Given the description of an element on the screen output the (x, y) to click on. 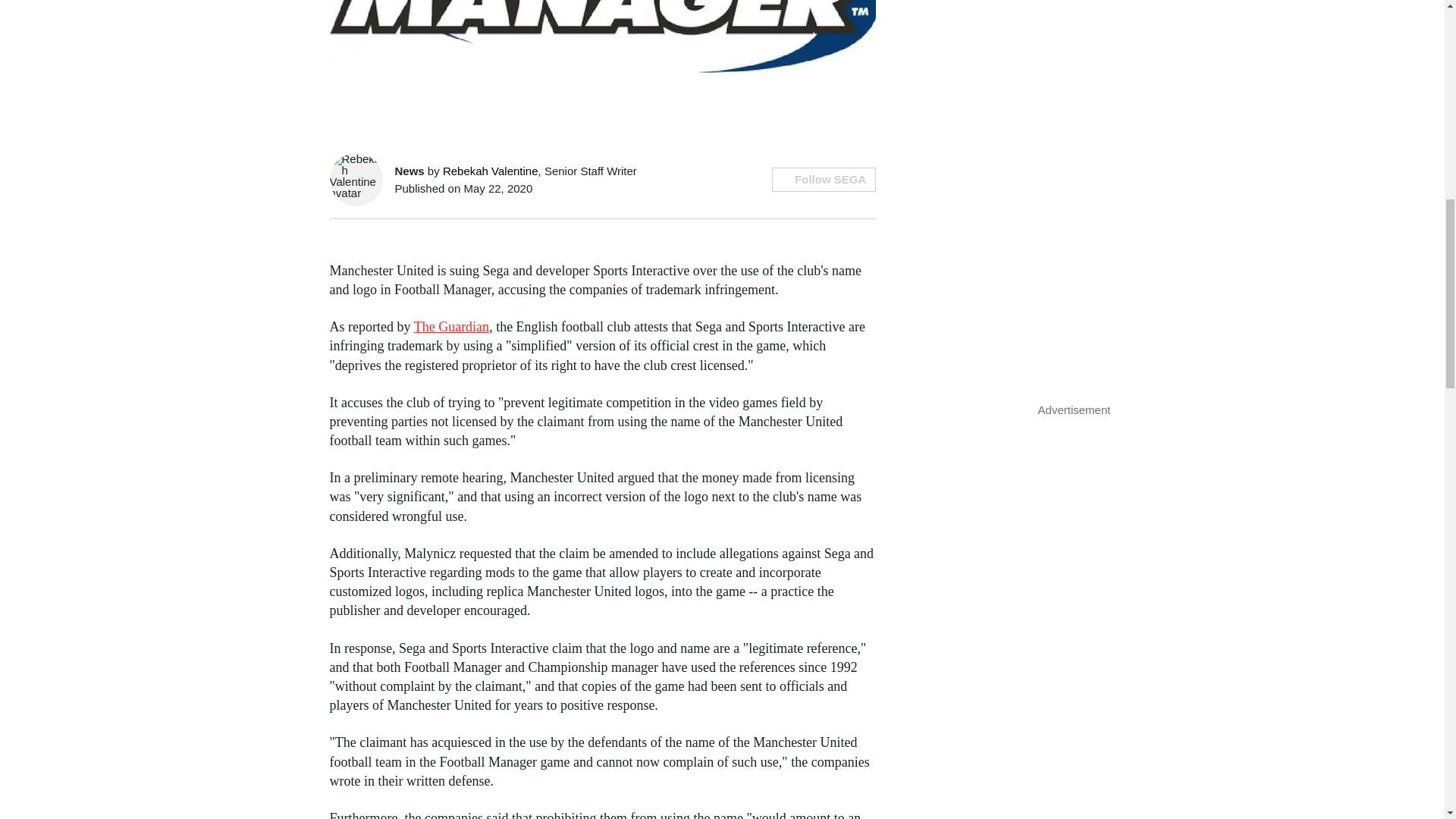
Rebekah Valentine (490, 170)
Follow SEGA (823, 179)
Follow SEGA (823, 179)
The Guardian (451, 326)
